Given the description of an element on the screen output the (x, y) to click on. 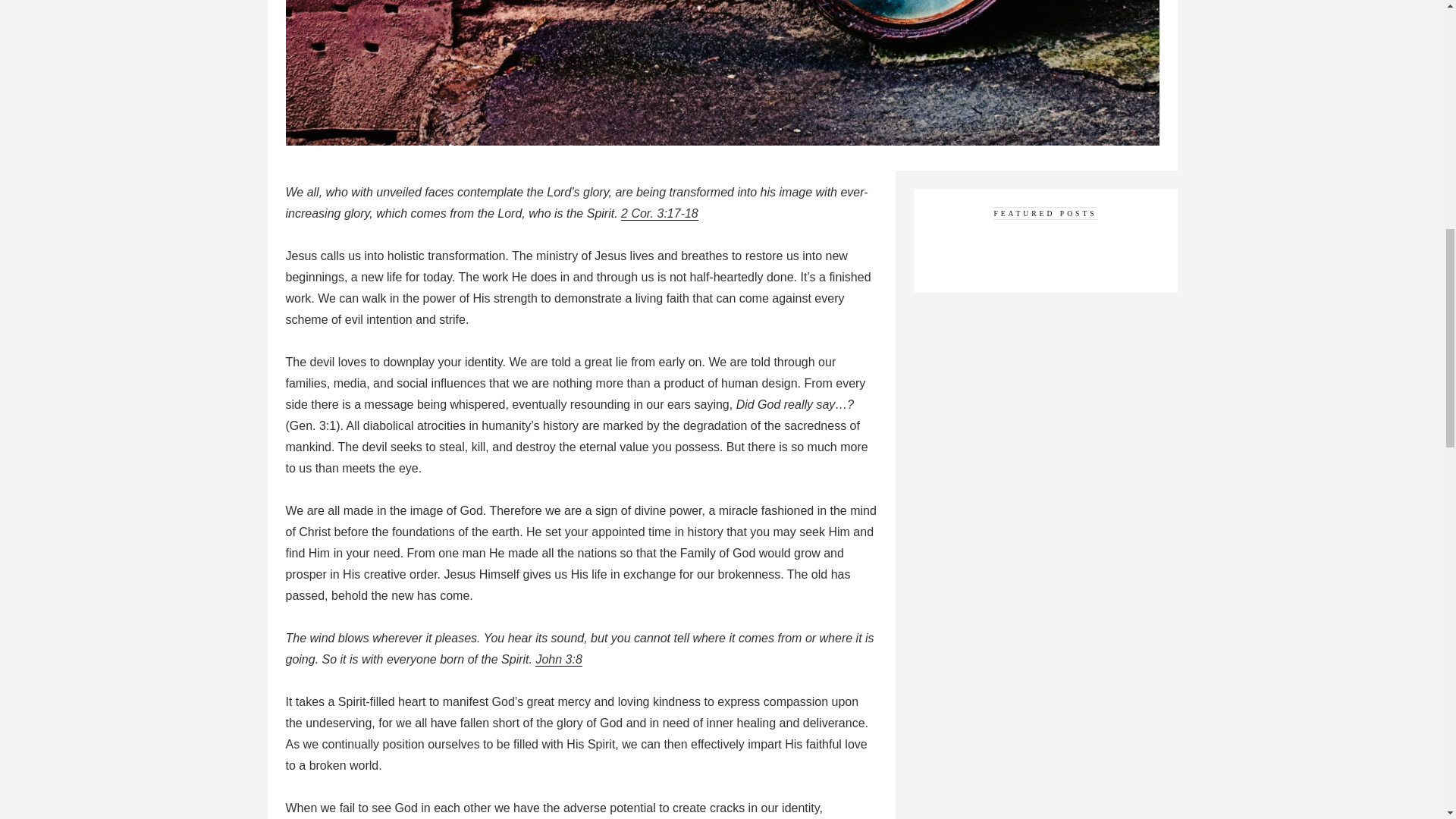
2 Cor. 3:17-18 (659, 213)
John 3:8 (557, 659)
